Given the description of an element on the screen output the (x, y) to click on. 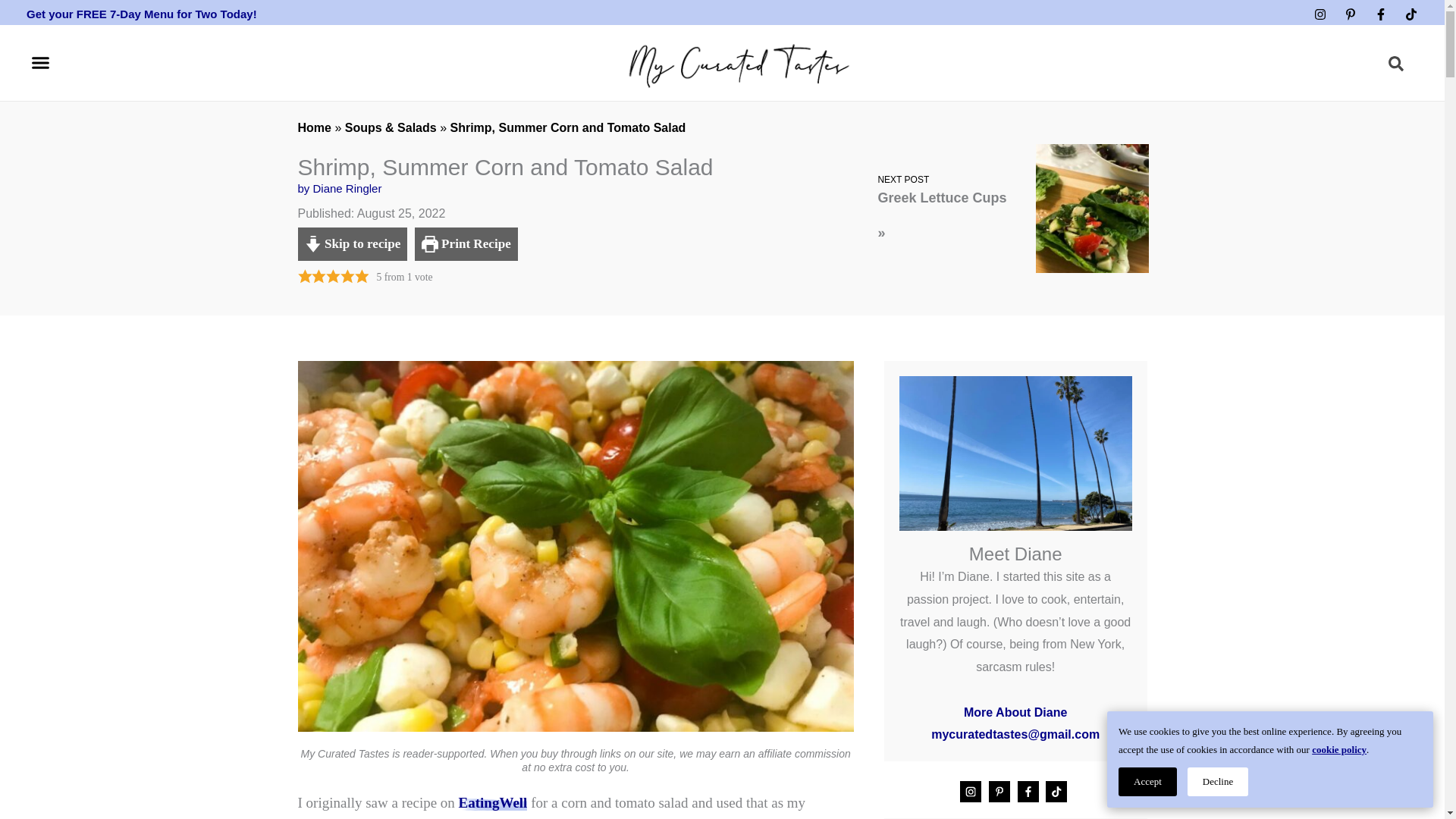
Tiktok (1410, 14)
My Curated Tastes (492, 802)
Facebook-f (1380, 14)
Skip to recipe (352, 244)
Get your FREE 7-Day Menu for Two Today! (141, 13)
Pinterest-p (1349, 14)
Shrimp, Summer Corn and Tomato Salad (567, 128)
Home (313, 128)
Instagram (1320, 14)
